Given the description of an element on the screen output the (x, y) to click on. 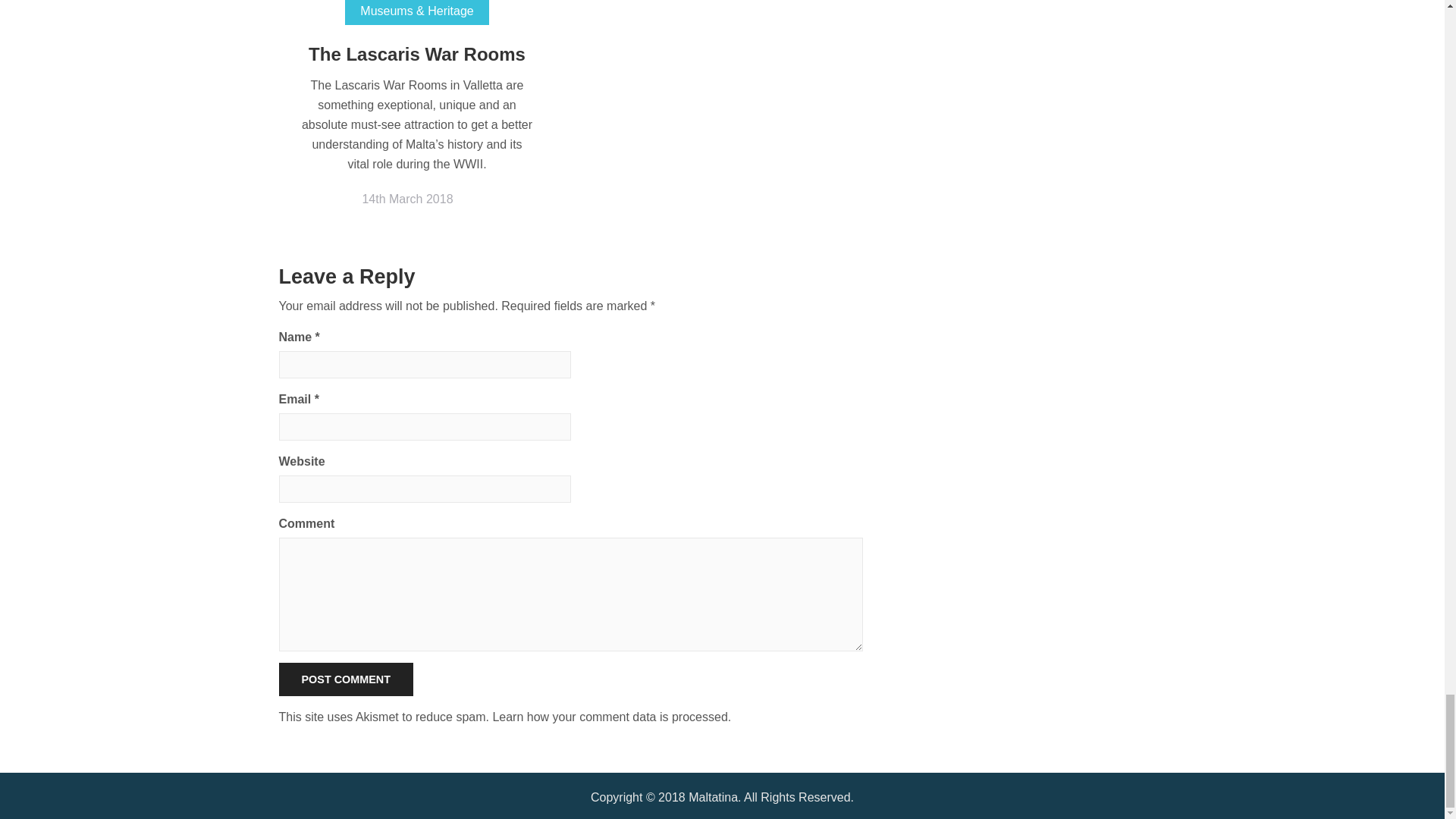
Post Comment (346, 679)
